Given the description of an element on the screen output the (x, y) to click on. 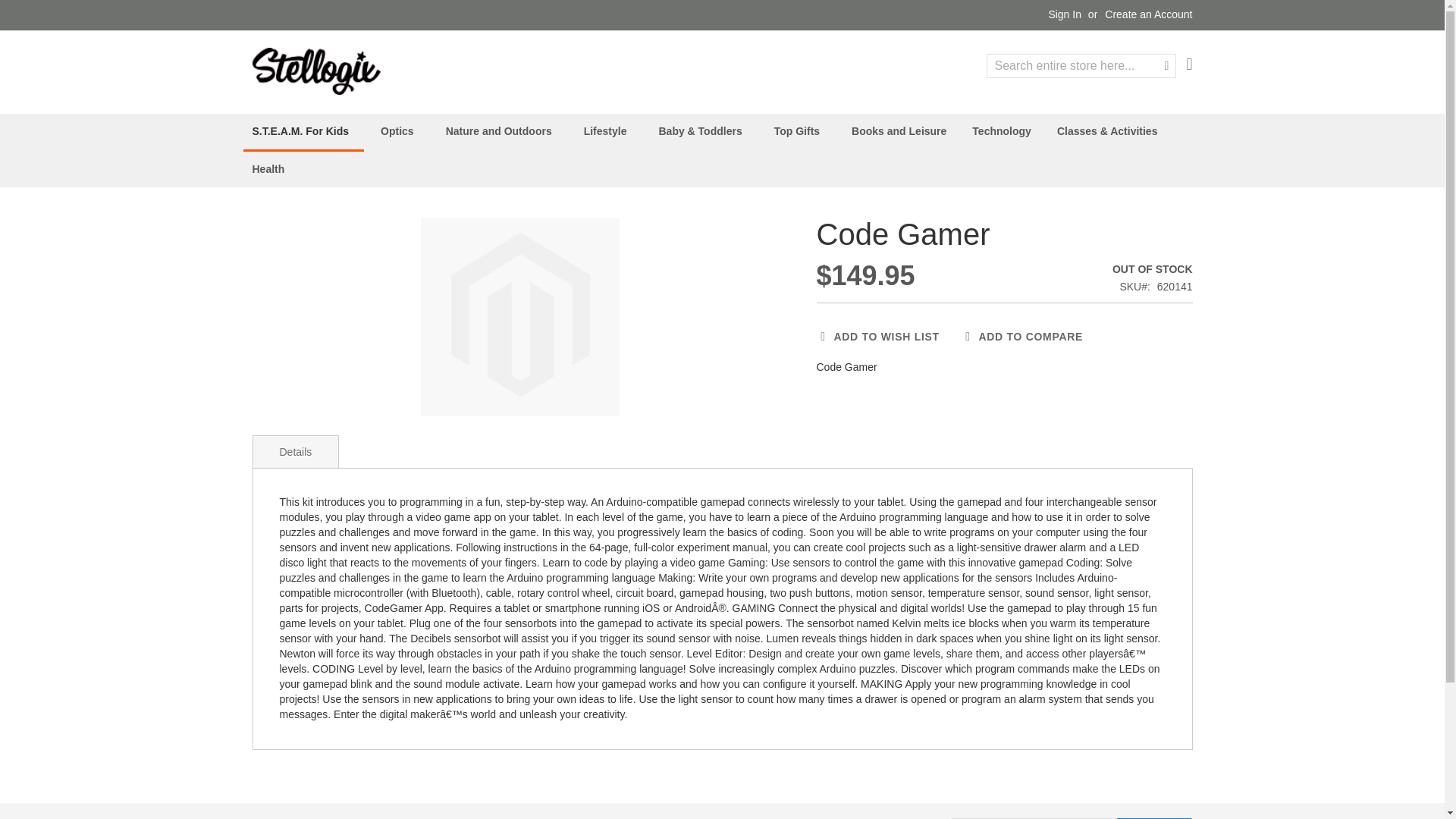
S.T.E.A.M. For Kids (303, 132)
Availability (1152, 269)
Sign In (1064, 14)
Create an Account (1148, 14)
